Given the description of an element on the screen output the (x, y) to click on. 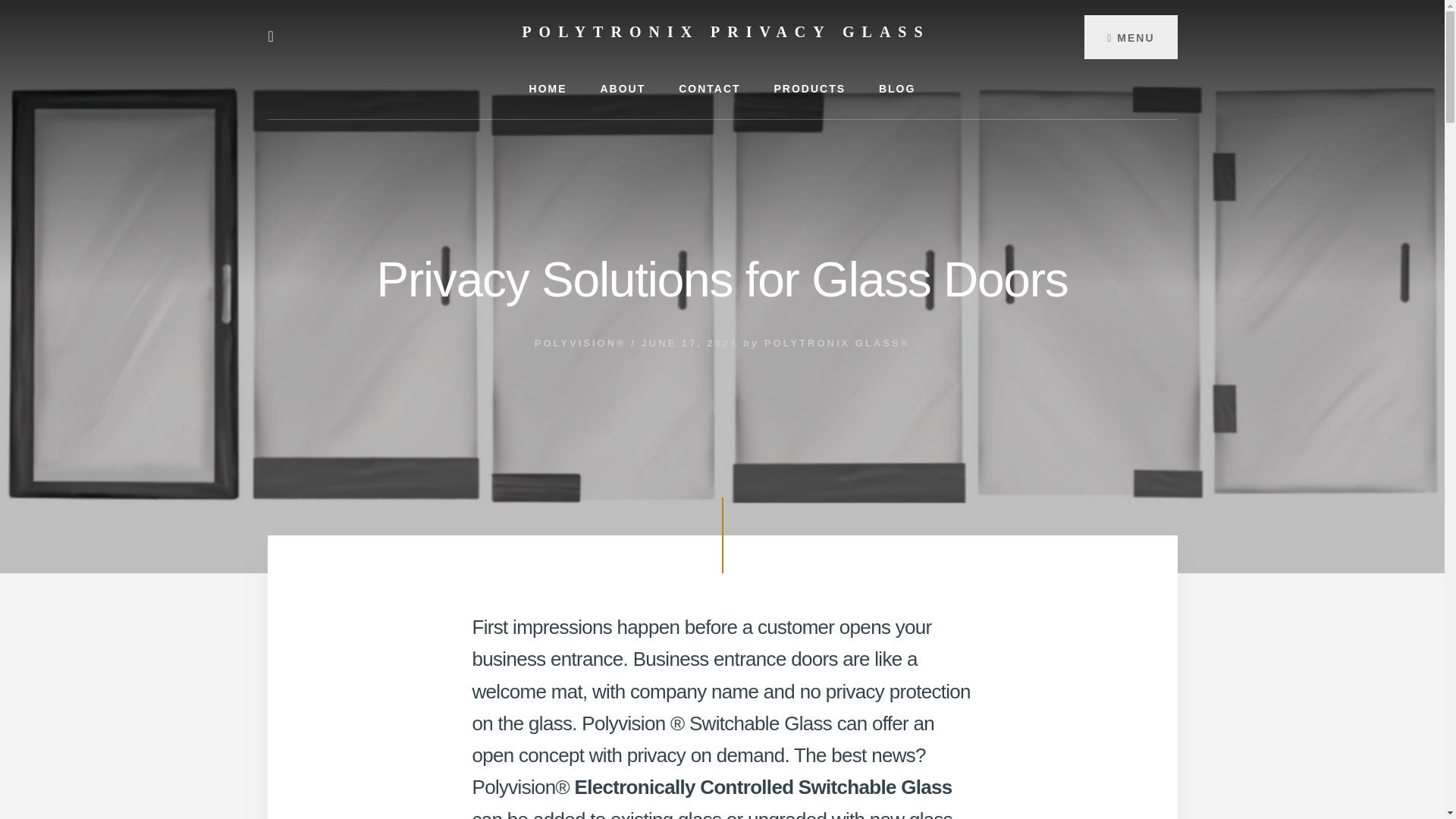
HOME (547, 88)
PRODUCTS (809, 88)
POLYTRONIX PRIVACY GLASS (725, 31)
CONTACT (709, 88)
MENU (1130, 36)
BLOG (896, 88)
ABOUT (623, 88)
